Given the description of an element on the screen output the (x, y) to click on. 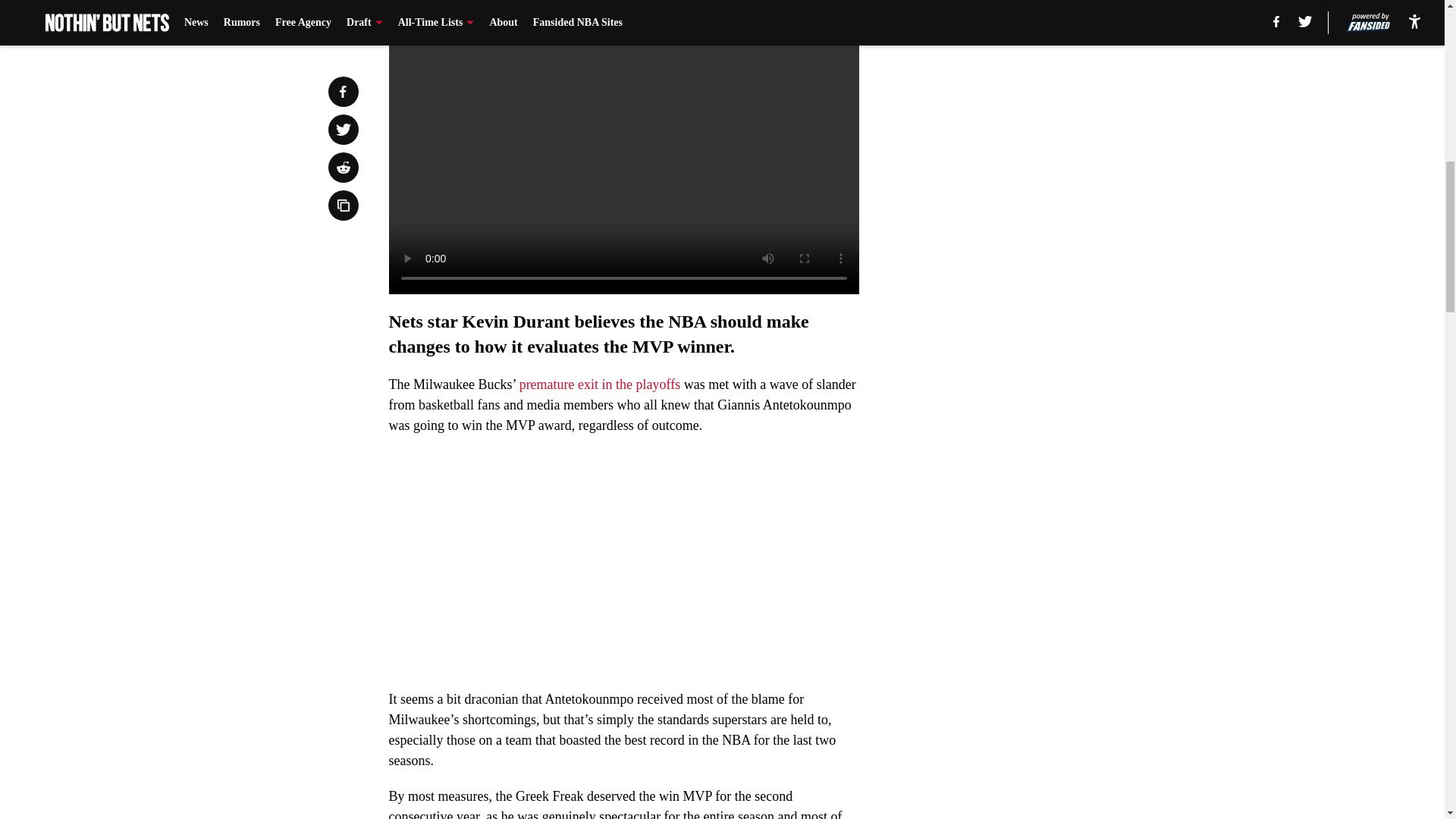
premature exit in the playoffs (600, 384)
3rd party ad content (1047, 344)
3rd party ad content (1047, 125)
